Given the description of an element on the screen output the (x, y) to click on. 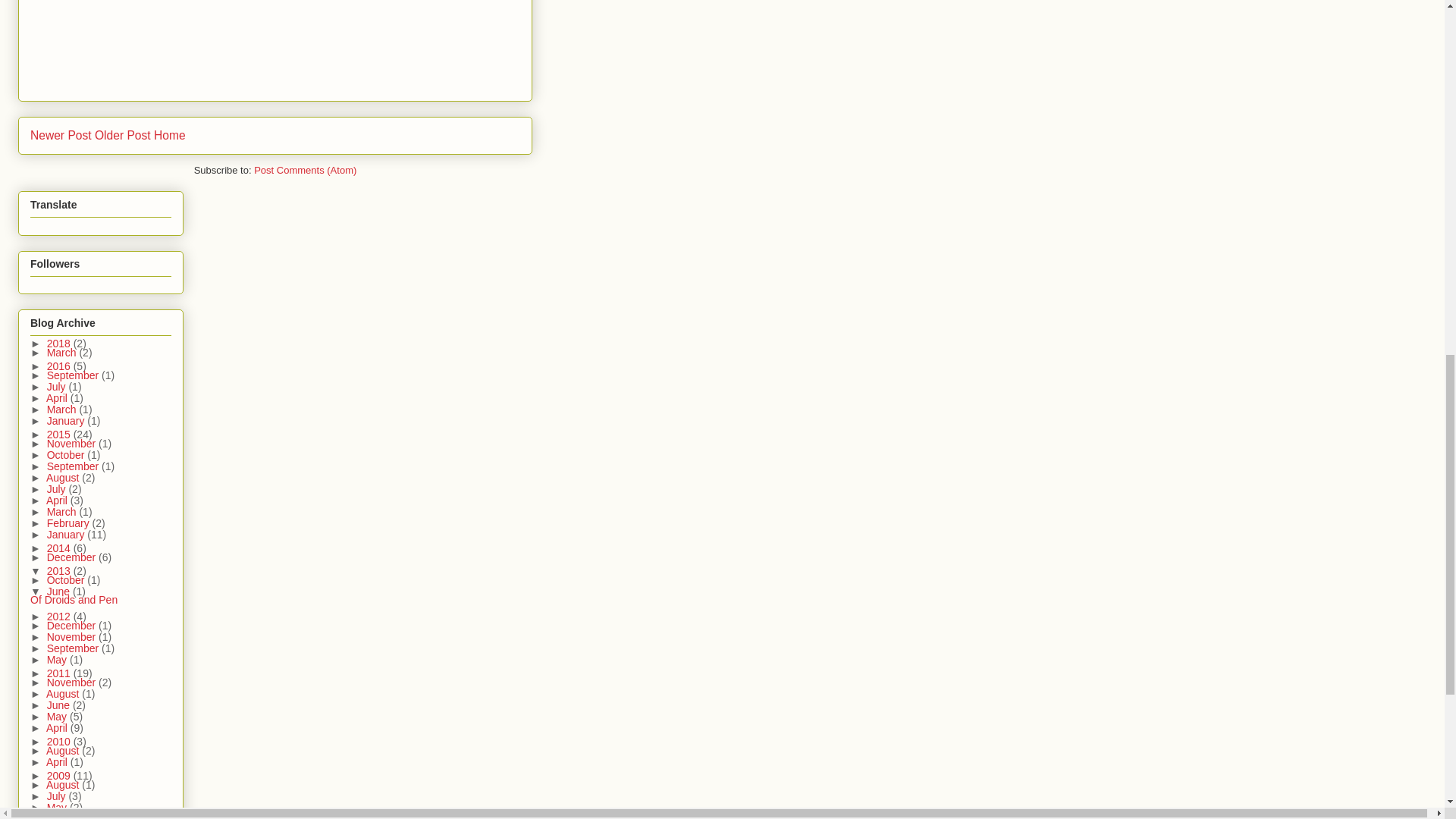
Older Post (122, 134)
March (63, 352)
March (63, 409)
January (66, 420)
2016 (60, 366)
Newer Post (60, 134)
2015 (60, 434)
July (57, 386)
2018 (60, 343)
Home (170, 134)
November (72, 443)
Older Post (122, 134)
September (73, 375)
Newer Post (60, 134)
October (66, 454)
